Given the description of an element on the screen output the (x, y) to click on. 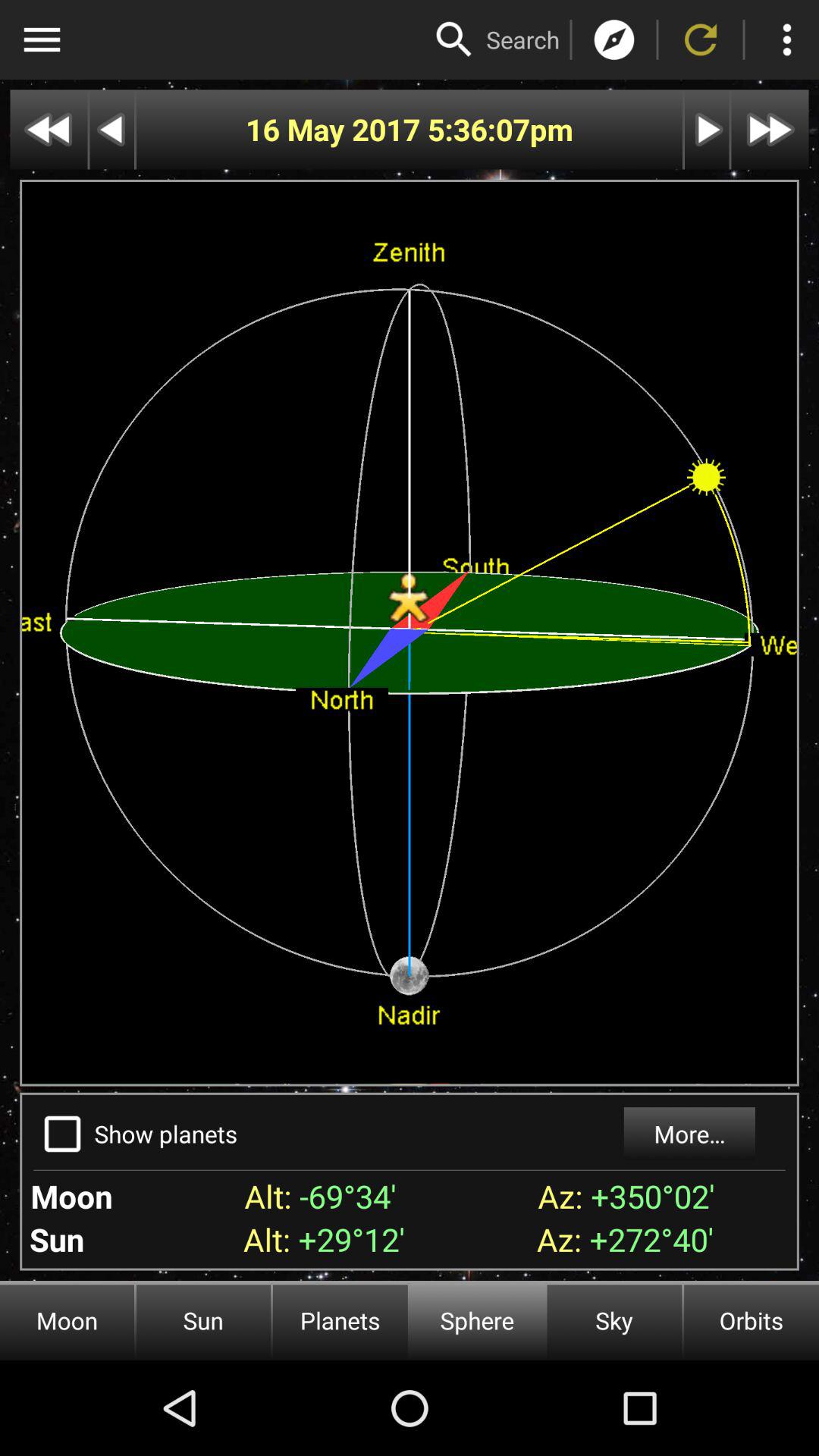
go to next (706, 129)
